Given the description of an element on the screen output the (x, y) to click on. 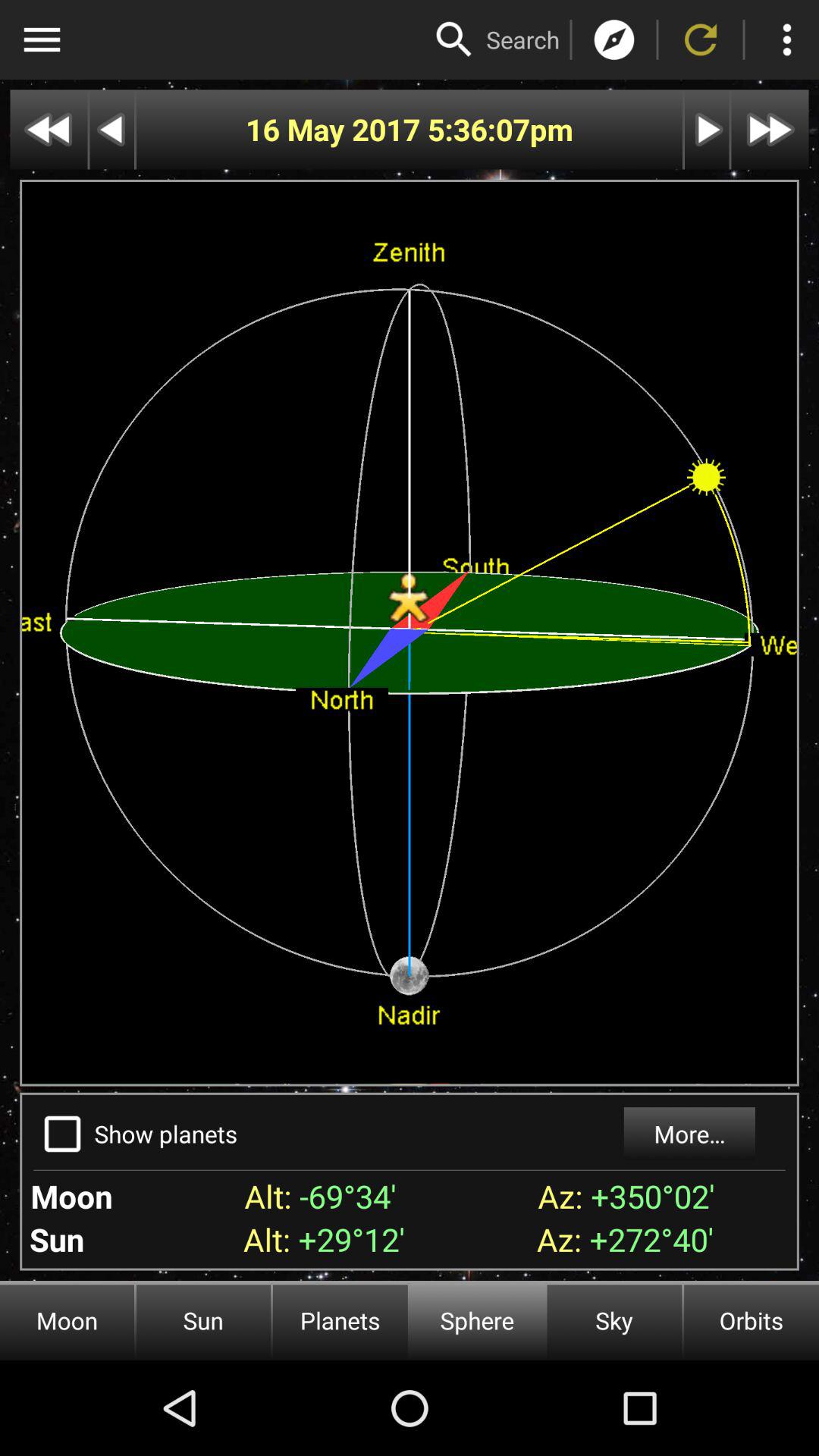
go to next (706, 129)
